Given the description of an element on the screen output the (x, y) to click on. 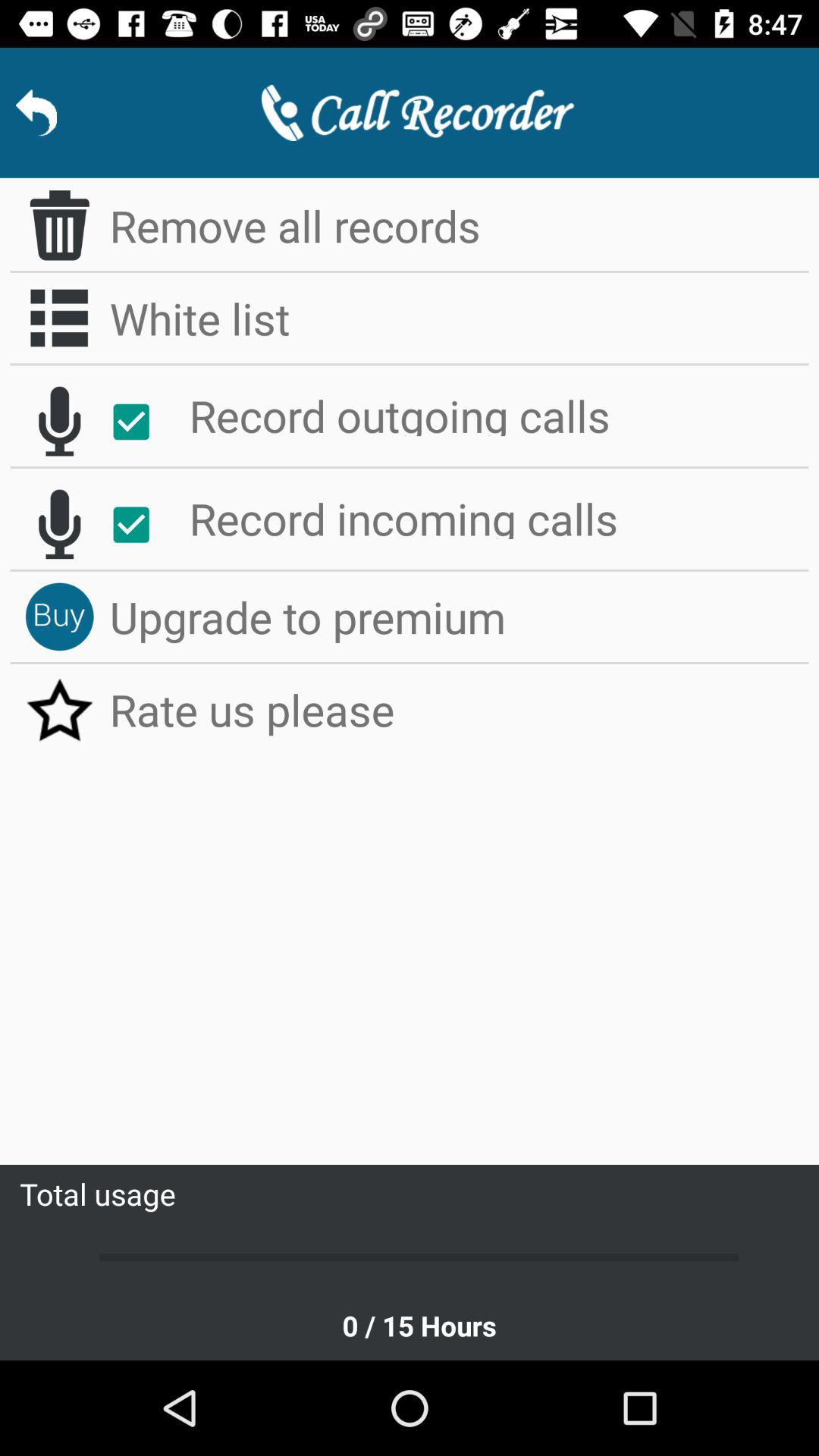
launch icon next to the record incoming calls app (139, 524)
